Given the description of an element on the screen output the (x, y) to click on. 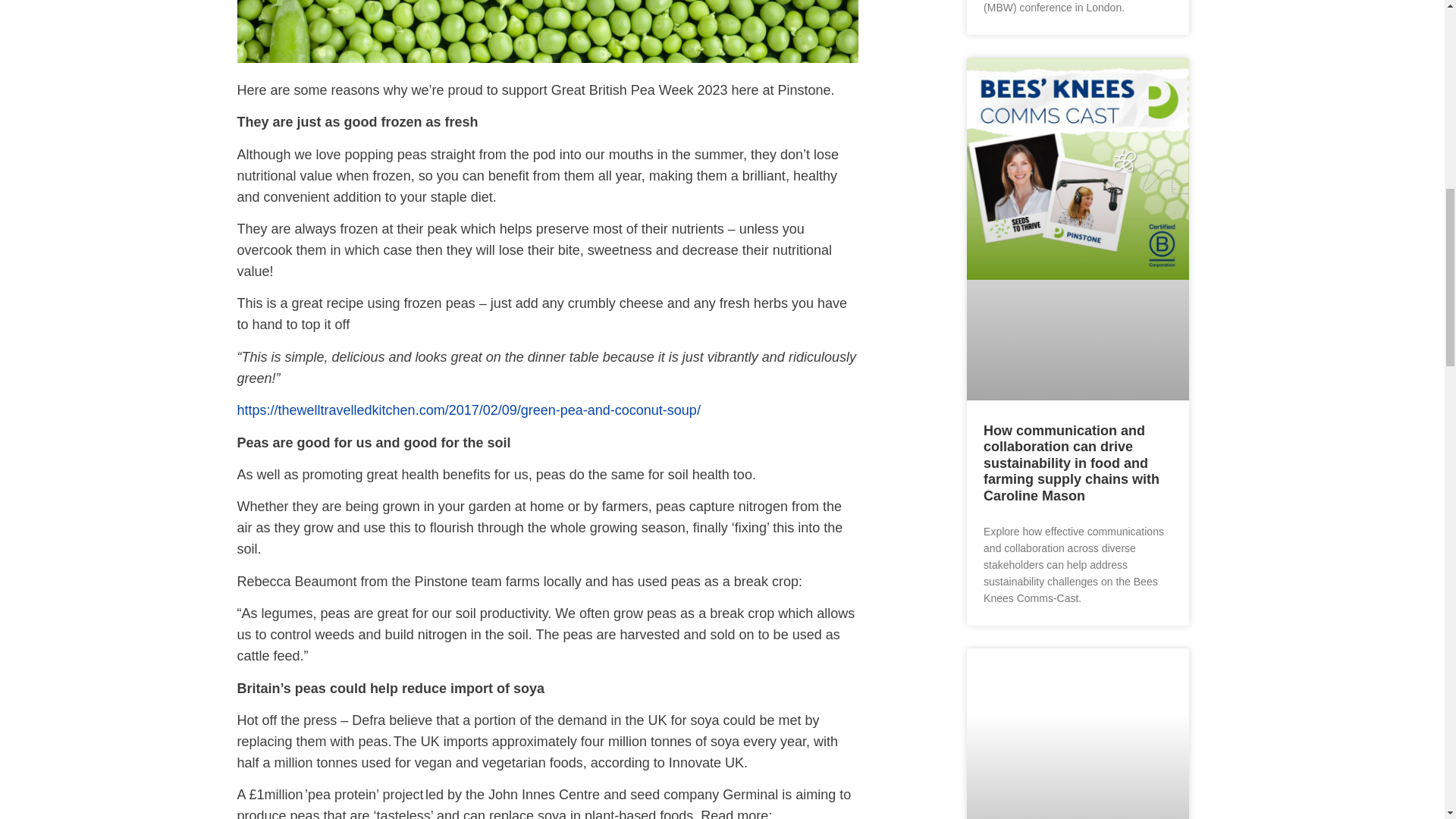
British Peas (546, 31)
